Given the description of an element on the screen output the (x, y) to click on. 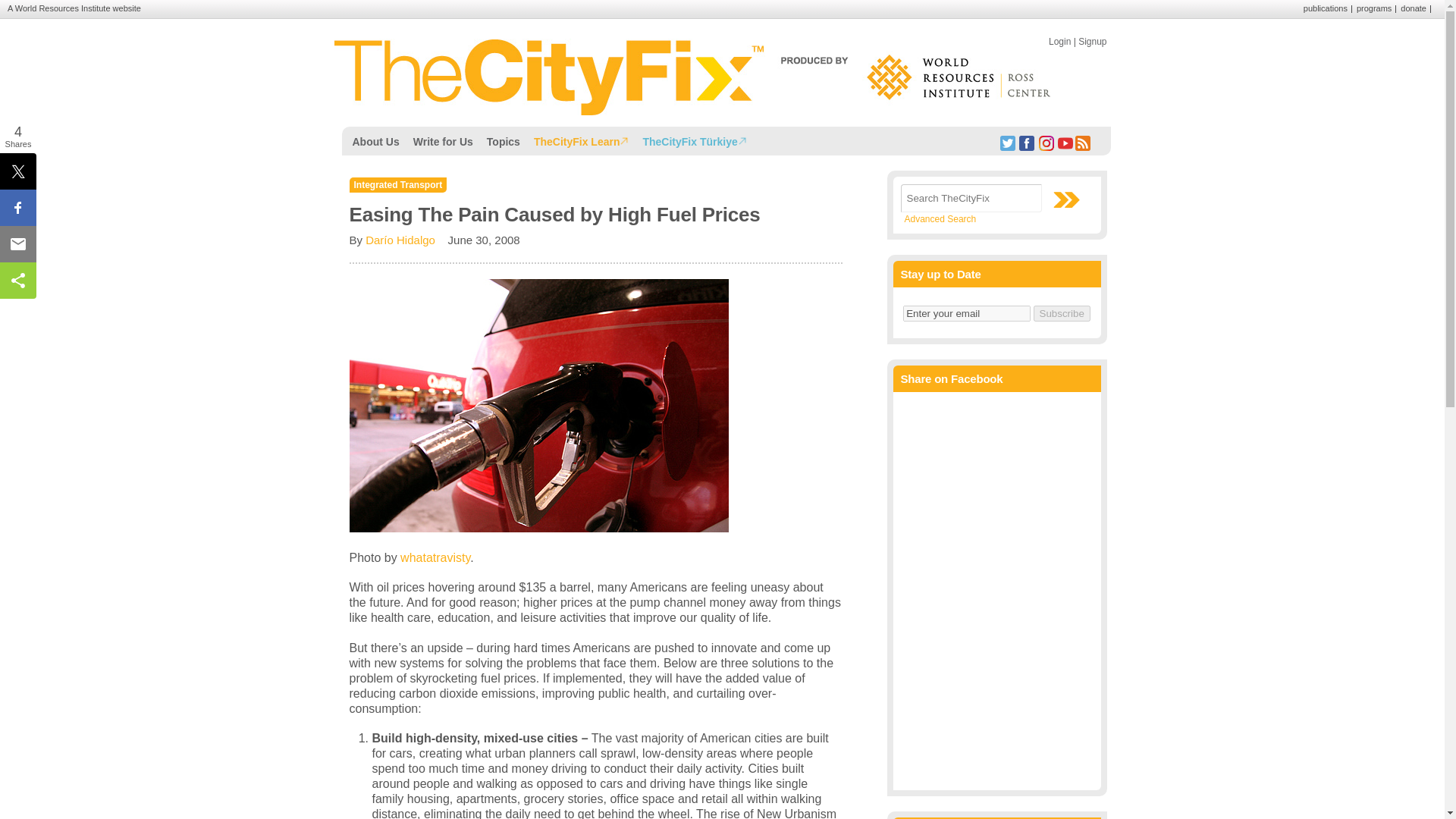
World Resources Institute (62, 8)
Signup (1092, 41)
Subscribe (1061, 313)
publications (1325, 8)
Subscribe (1061, 313)
donate (1413, 8)
programs (1373, 8)
About Us (376, 140)
Advanced Search (939, 218)
TheCityFix Learn (581, 140)
Login (1059, 41)
Enter your email (966, 313)
Search TheCityFix (971, 198)
Topics (503, 140)
Write for Us (443, 140)
